Given the description of an element on the screen output the (x, y) to click on. 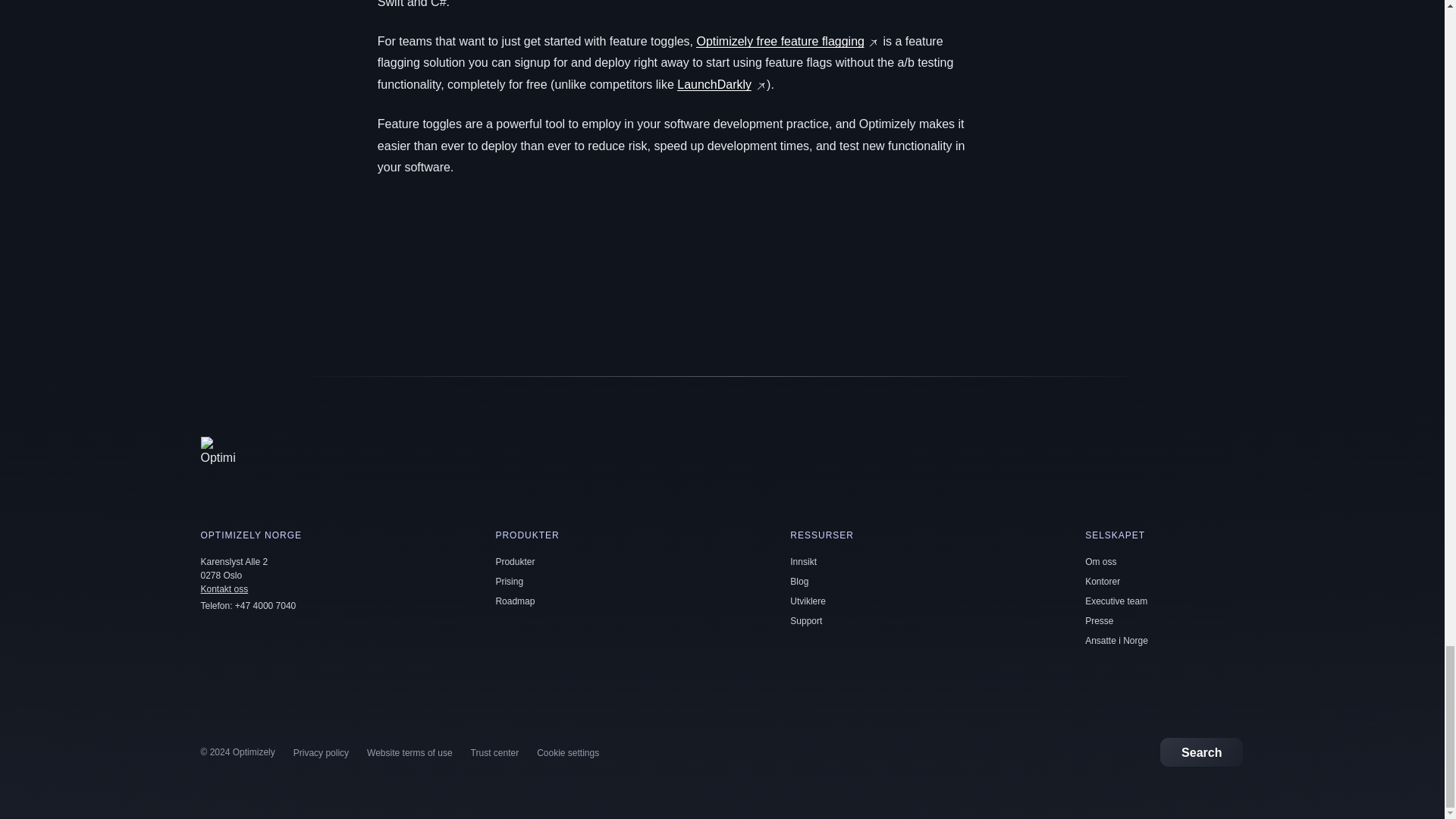
Ansatte i Norge (1116, 640)
Kontorer (1101, 581)
Blog (799, 581)
Website terms of use (409, 752)
Optimizely free feature flagging (779, 41)
Roadmap (514, 601)
Utviklere (807, 601)
LaunchDarkly (714, 83)
Produkter (514, 561)
Presse (1098, 620)
Innsikt (803, 561)
Privacy policy (321, 752)
Executive team (1115, 601)
Om oss (1100, 561)
Prising (508, 581)
